Given the description of an element on the screen output the (x, y) to click on. 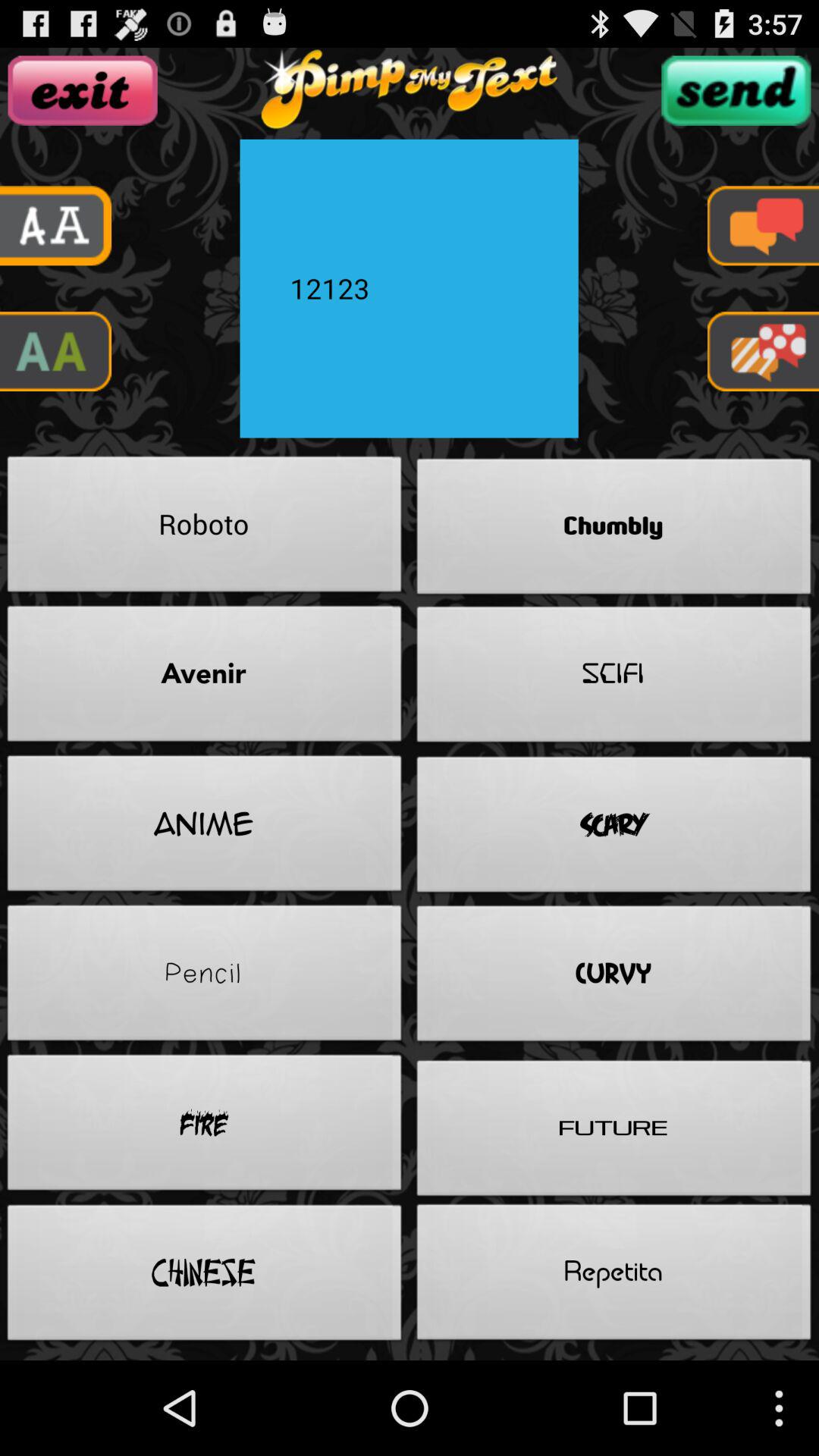
select button (736, 90)
